Given the description of an element on the screen output the (x, y) to click on. 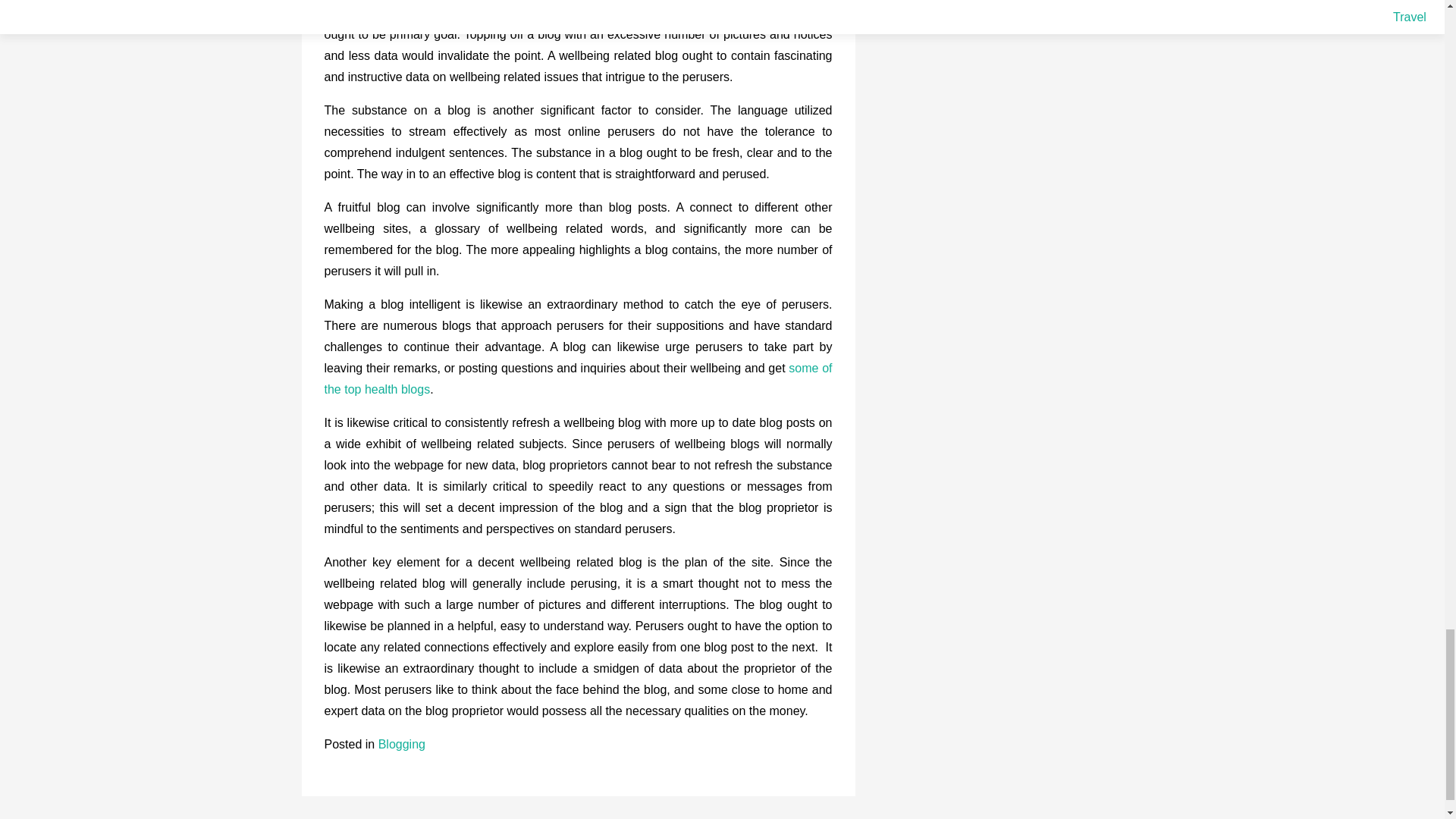
Blogging (401, 744)
some of the top health blogs (578, 378)
